Given the description of an element on the screen output the (x, y) to click on. 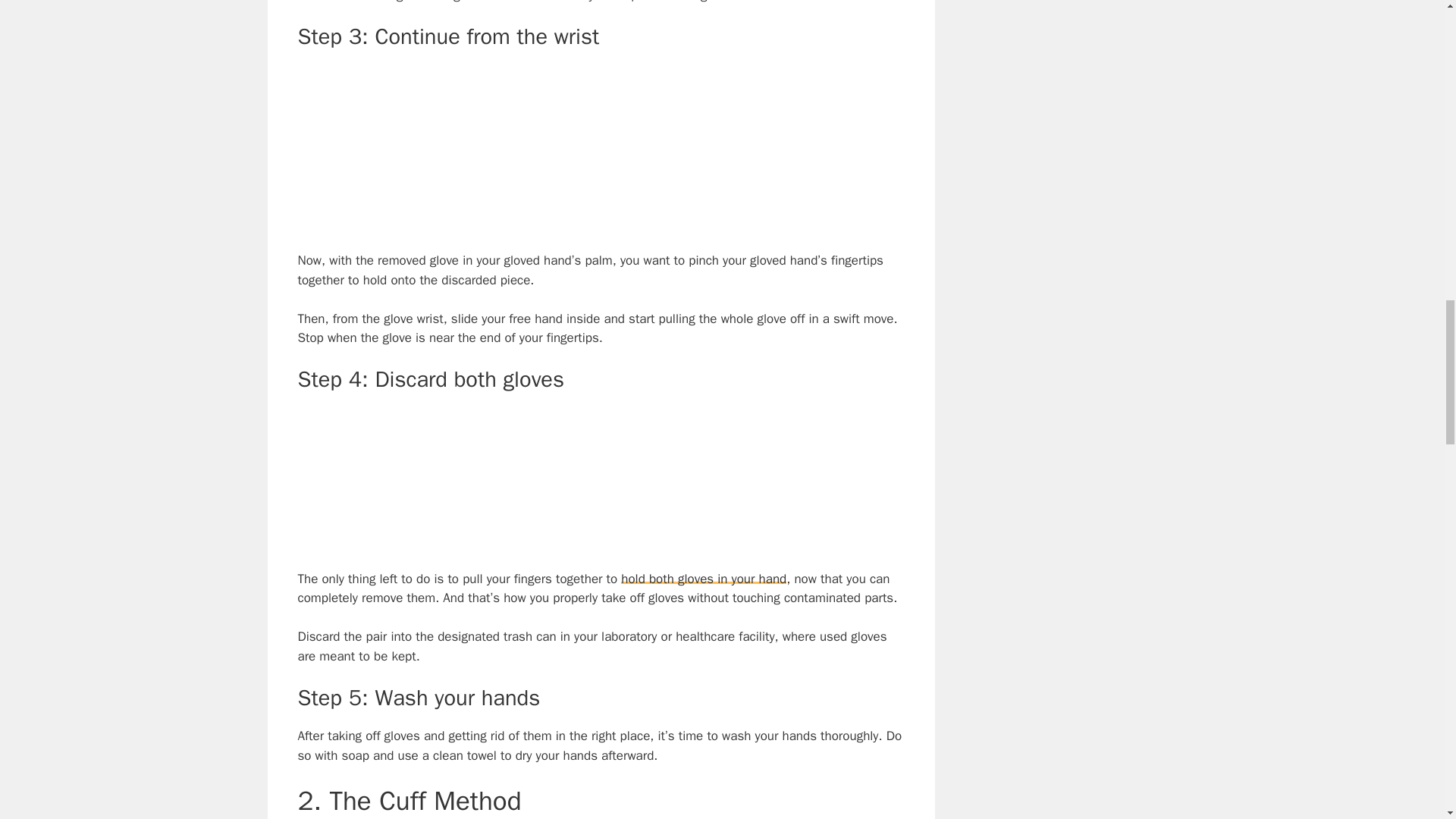
hold both gloves in your hand (703, 578)
